Given the description of an element on the screen output the (x, y) to click on. 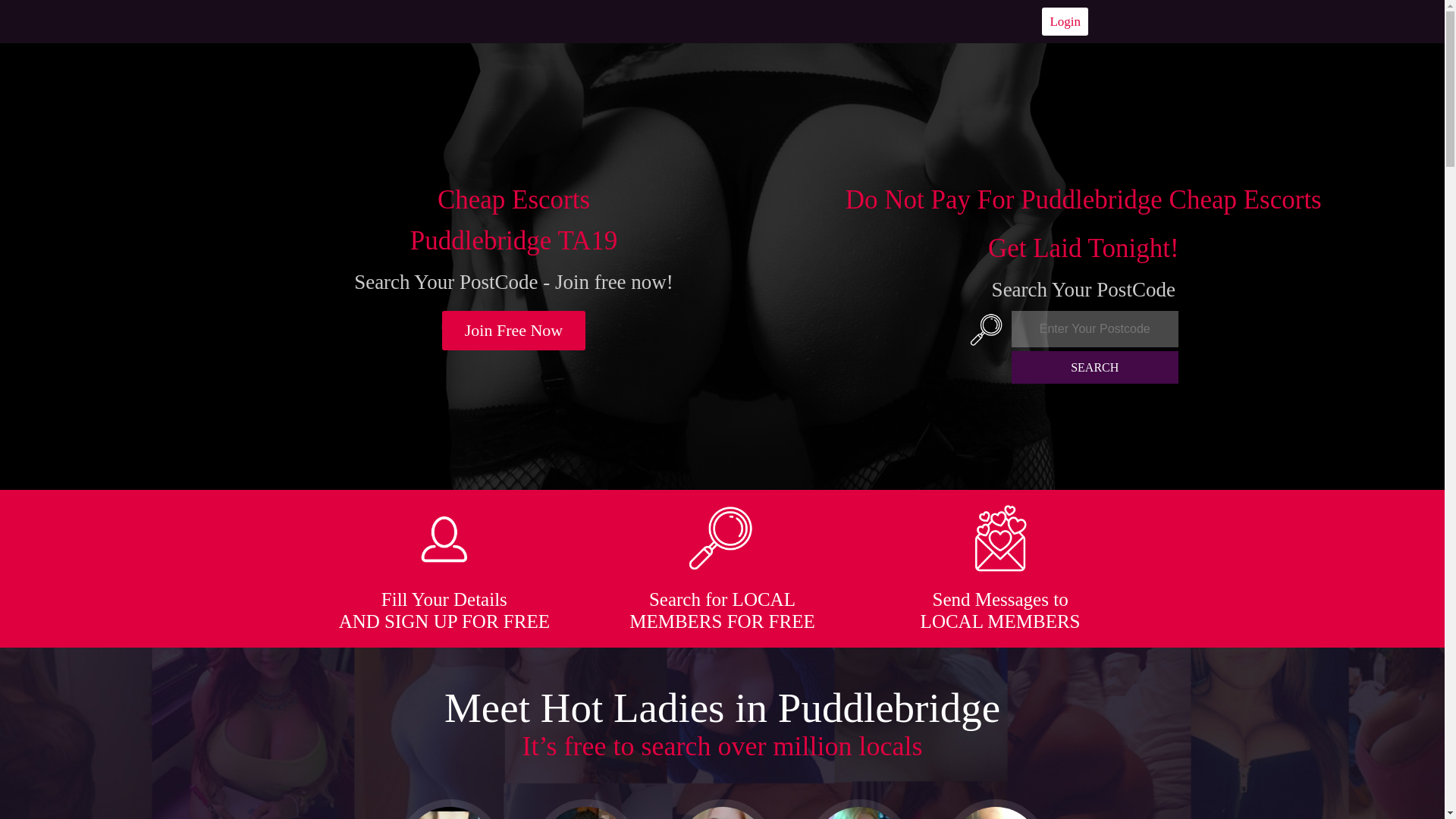
Login (1064, 21)
SEARCH (1094, 367)
Join (514, 330)
Join Free Now (514, 330)
Login (1064, 21)
